Given the description of an element on the screen output the (x, y) to click on. 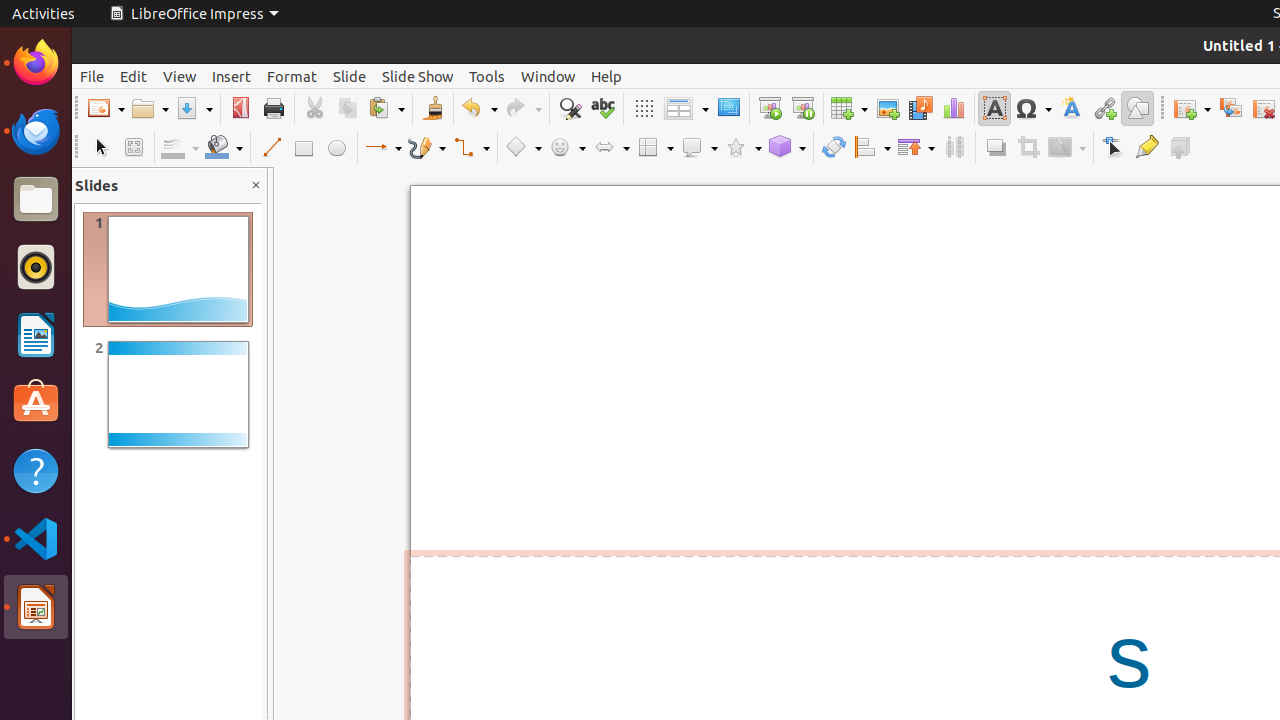
Align Element type: push-button (872, 147)
Thunderbird Mail Element type: push-button (36, 131)
Duplicate Slide Element type: push-button (1230, 108)
Redo Element type: push-button (523, 108)
